Given the description of an element on the screen output the (x, y) to click on. 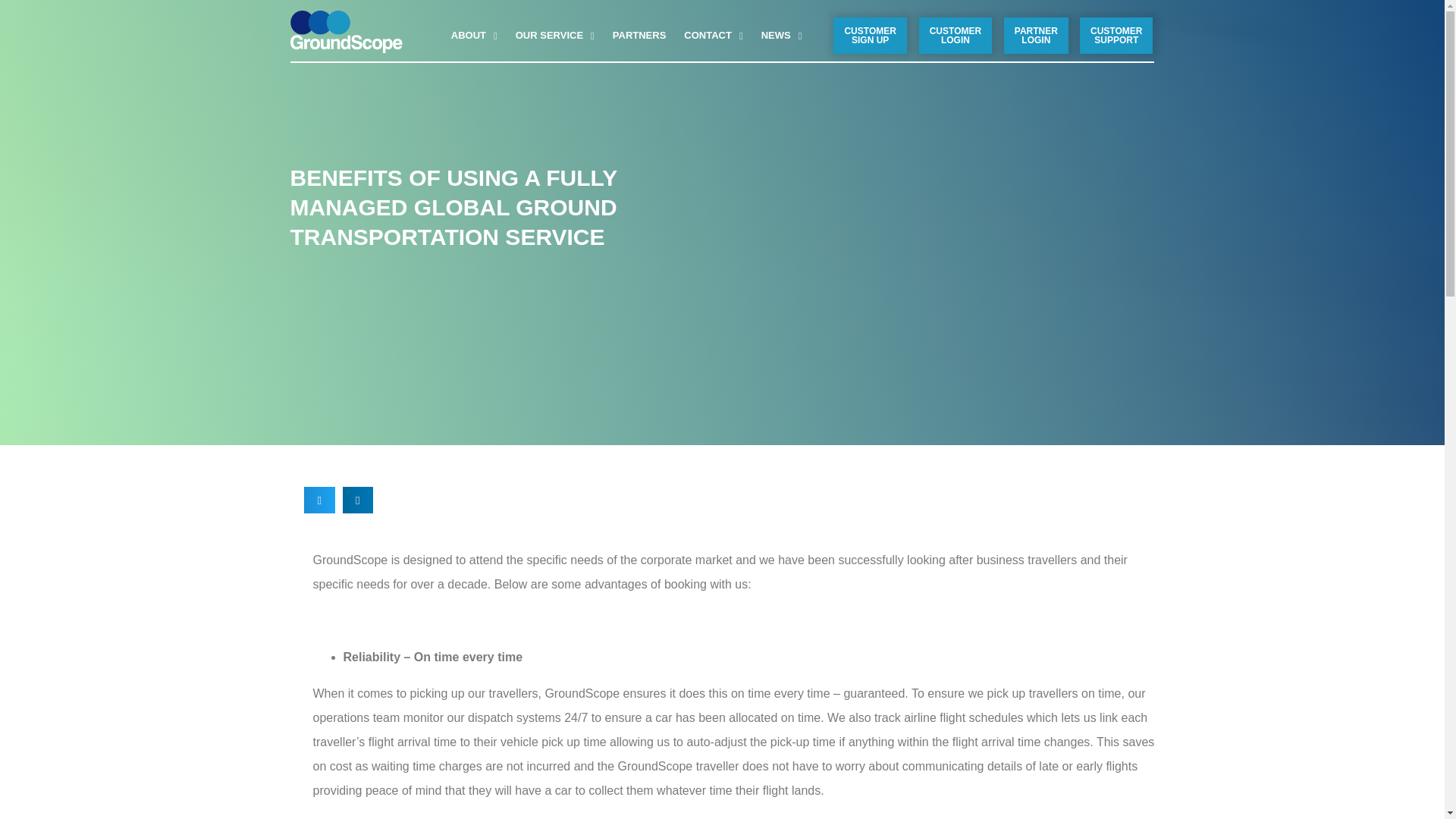
OUR SERVICE (555, 35)
ABOUT (474, 35)
NEWS (781, 35)
PARTNERS (639, 35)
PARTNER LOGIN (1036, 35)
CONTACT (713, 35)
CUSTOMER SIGN UP (868, 35)
CUSTOMER LOGIN (954, 35)
